Given the description of an element on the screen output the (x, y) to click on. 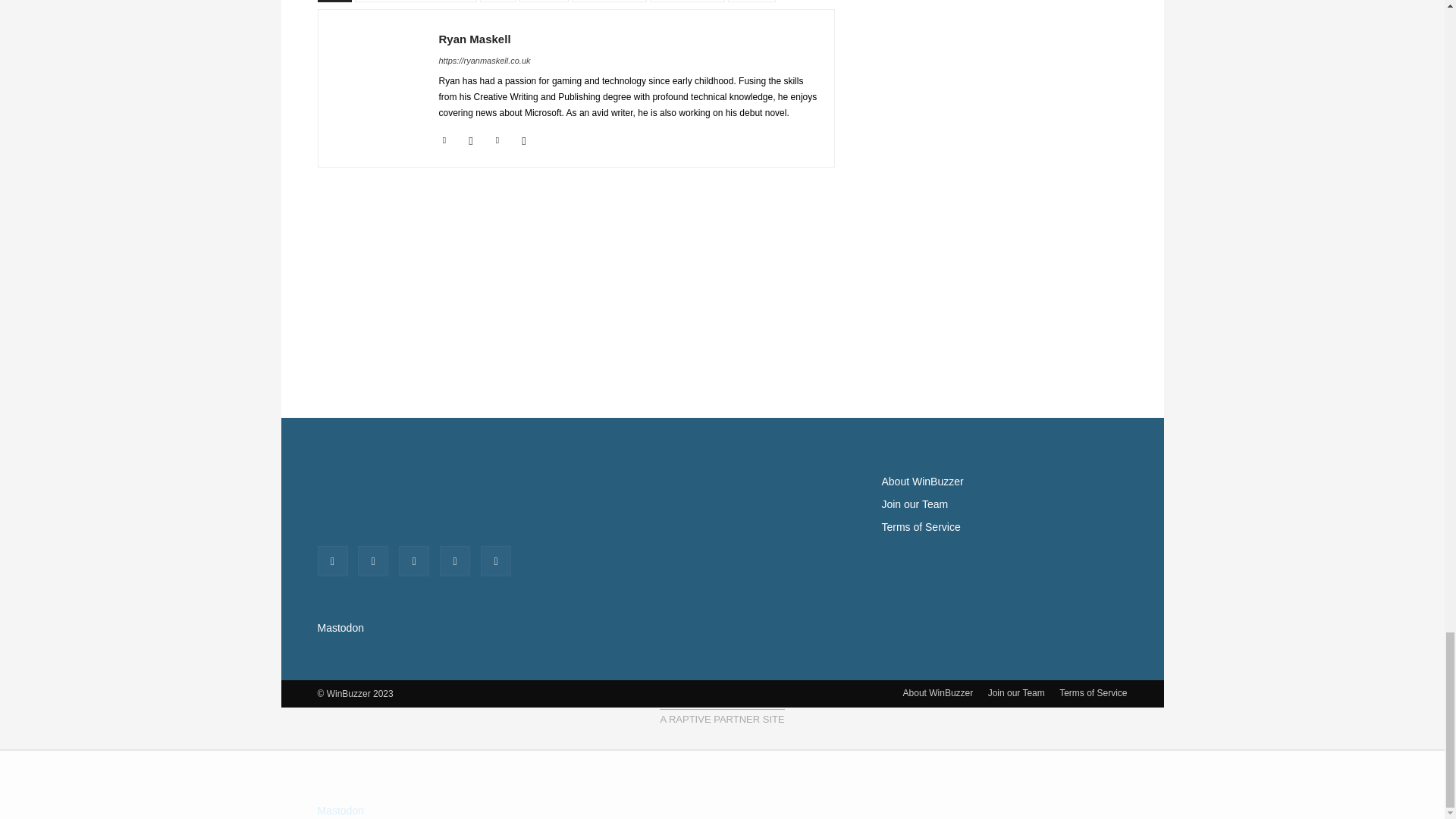
Xing (523, 137)
Linkedin (443, 137)
Twitter (497, 137)
Mail (471, 137)
